Given the description of an element on the screen output the (x, y) to click on. 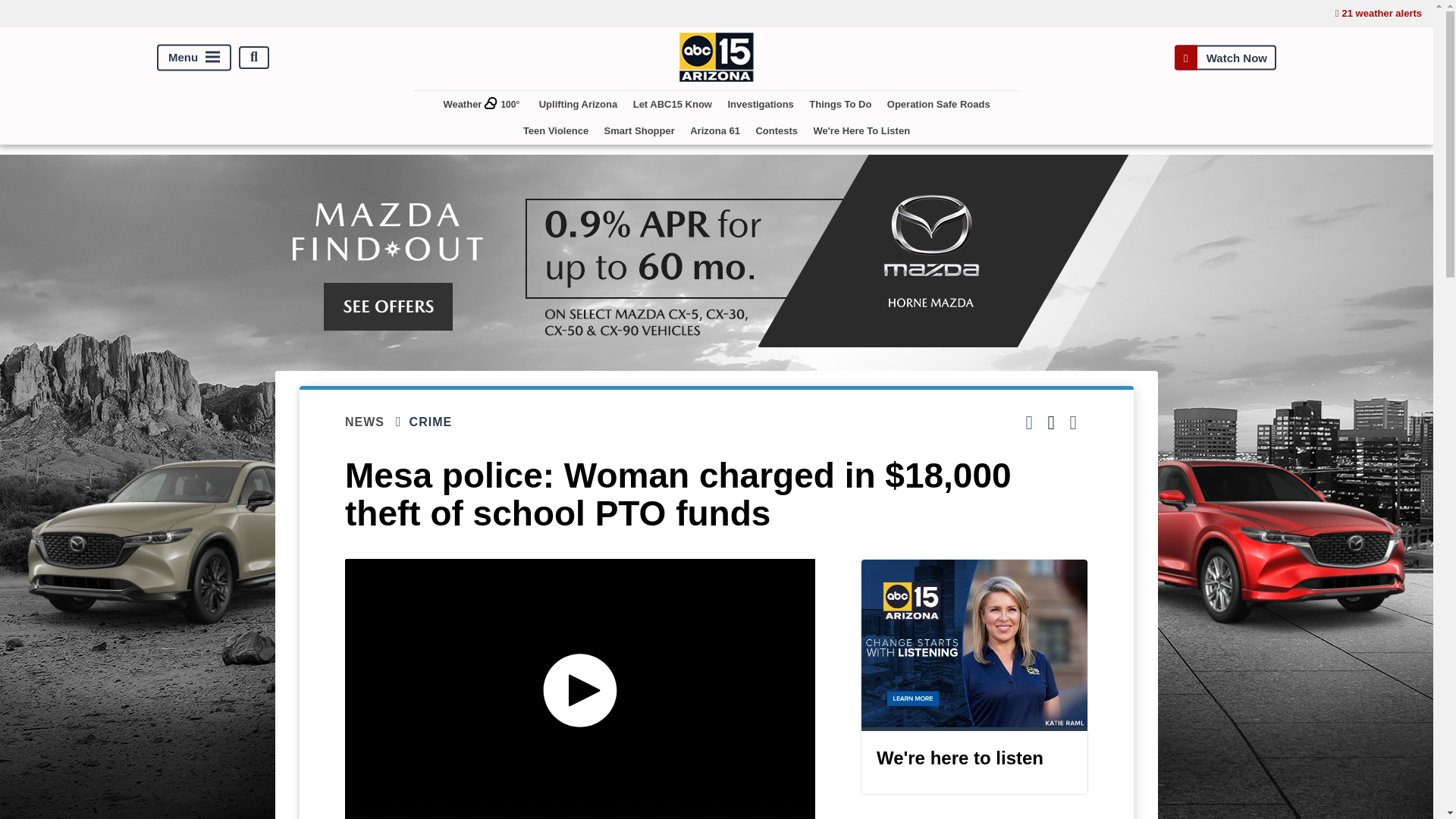
Menu (194, 57)
Watch Now (1224, 56)
